Given the description of an element on the screen output the (x, y) to click on. 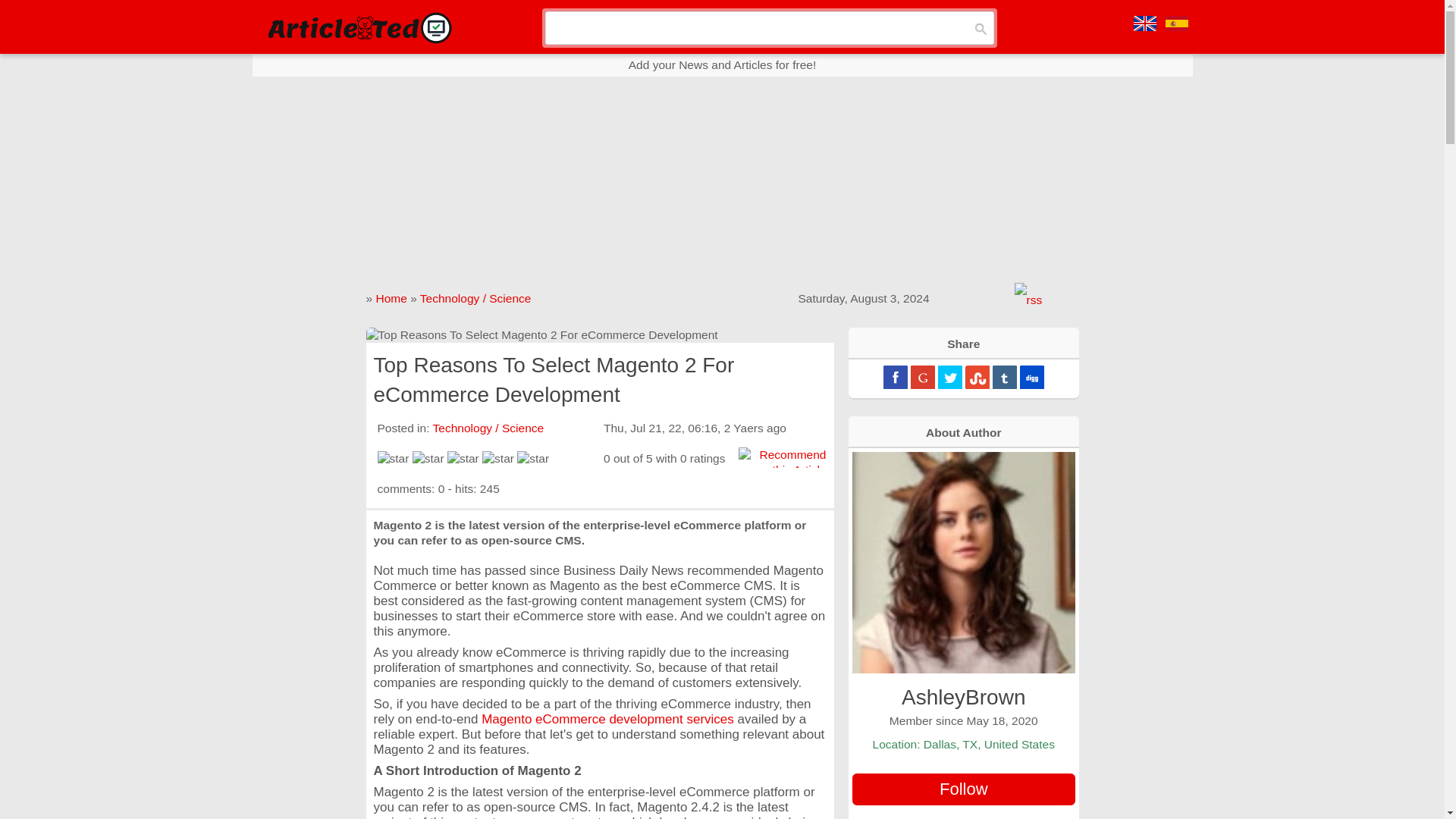
Follow (963, 789)
Top Reasons To Select Magento 2 For eCommerce Development (598, 335)
ArticleTed -  News and Articles (357, 27)
Home (390, 297)
Magento eCommerce development services (607, 718)
